Given the description of an element on the screen output the (x, y) to click on. 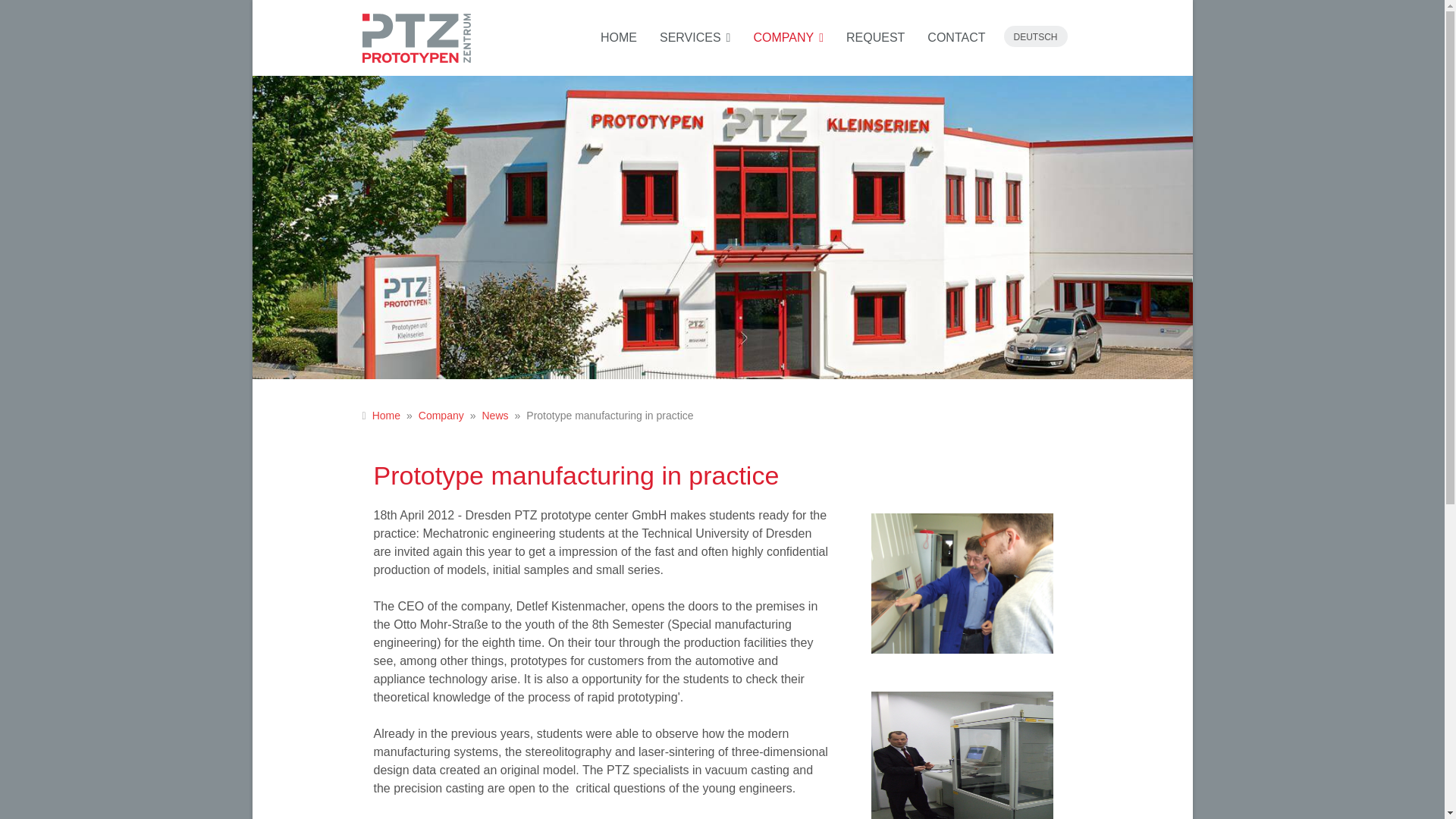
REQUEST (874, 38)
DEUTSCH (1035, 36)
News (494, 415)
SERVICES (694, 38)
Company (441, 415)
COMPANY (787, 38)
CONTACT (950, 38)
Home (386, 415)
